Given the description of an element on the screen output the (x, y) to click on. 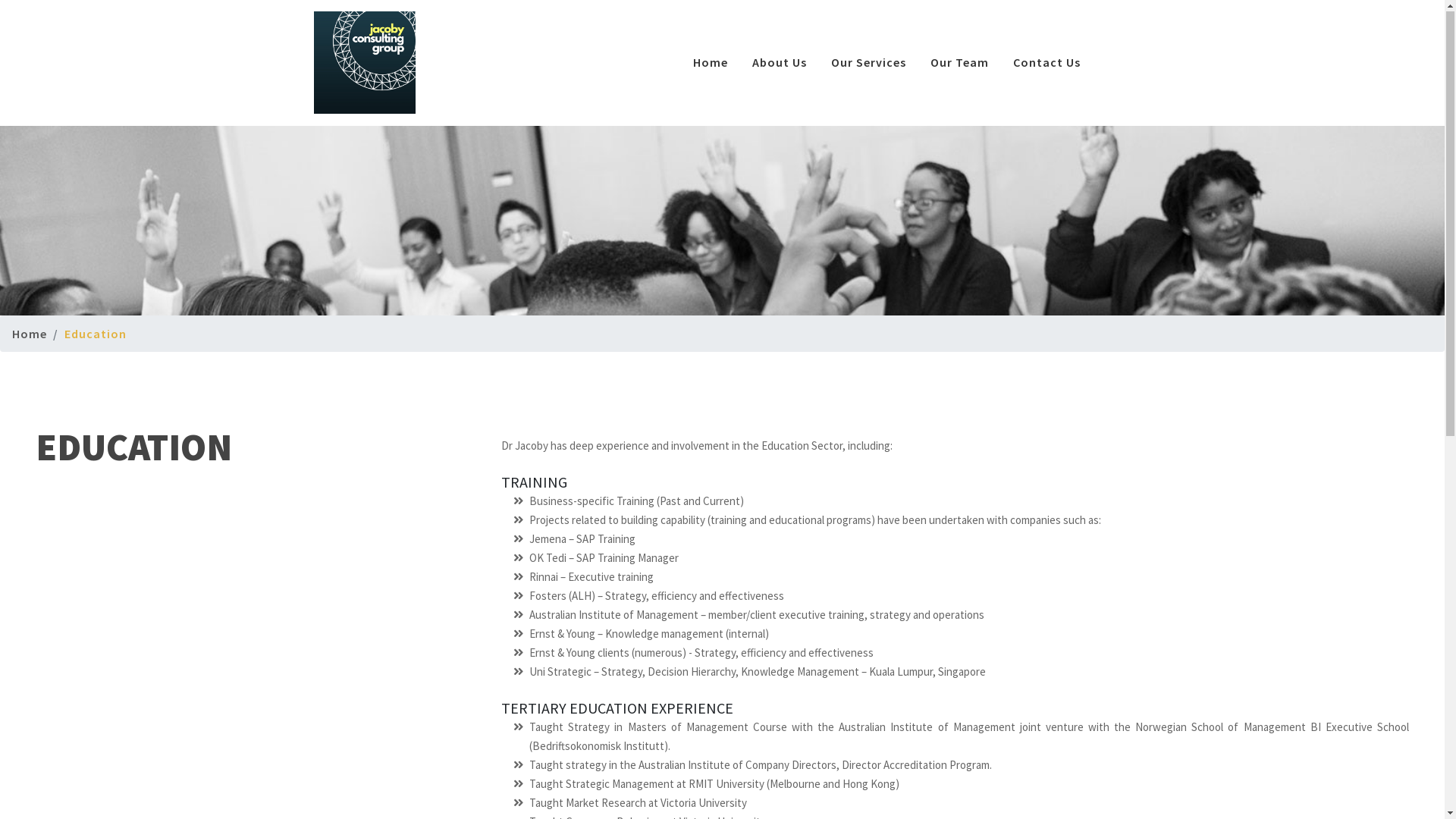
Contact Us Element type: text (1046, 62)
Our Services Element type: text (868, 62)
About Us Element type: text (779, 62)
Home Element type: text (29, 334)
Home Element type: text (710, 62)
Our Team Element type: text (959, 62)
